Given the description of an element on the screen output the (x, y) to click on. 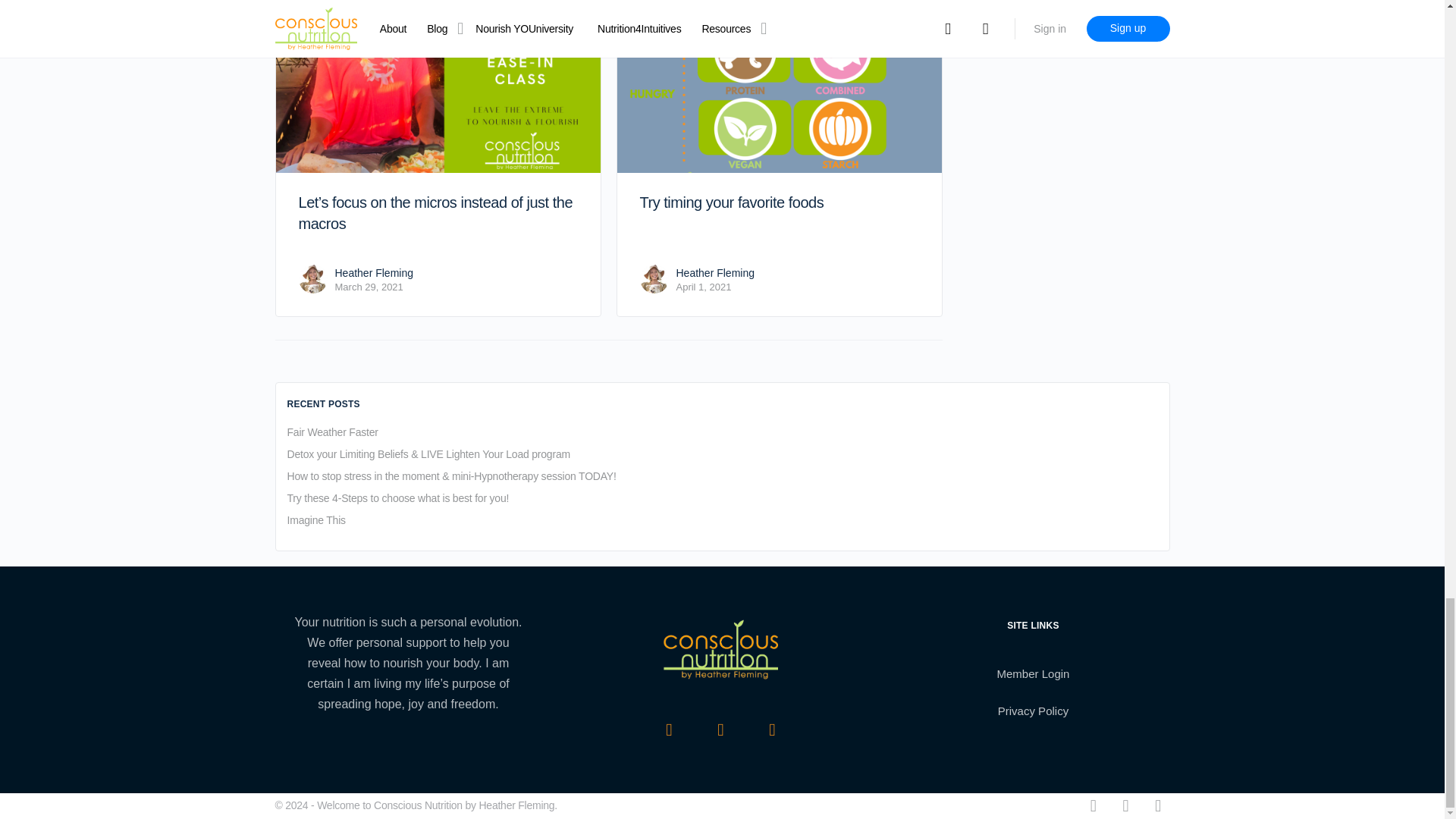
Permalink to Try timing your favorite foods (779, 87)
